Given the description of an element on the screen output the (x, y) to click on. 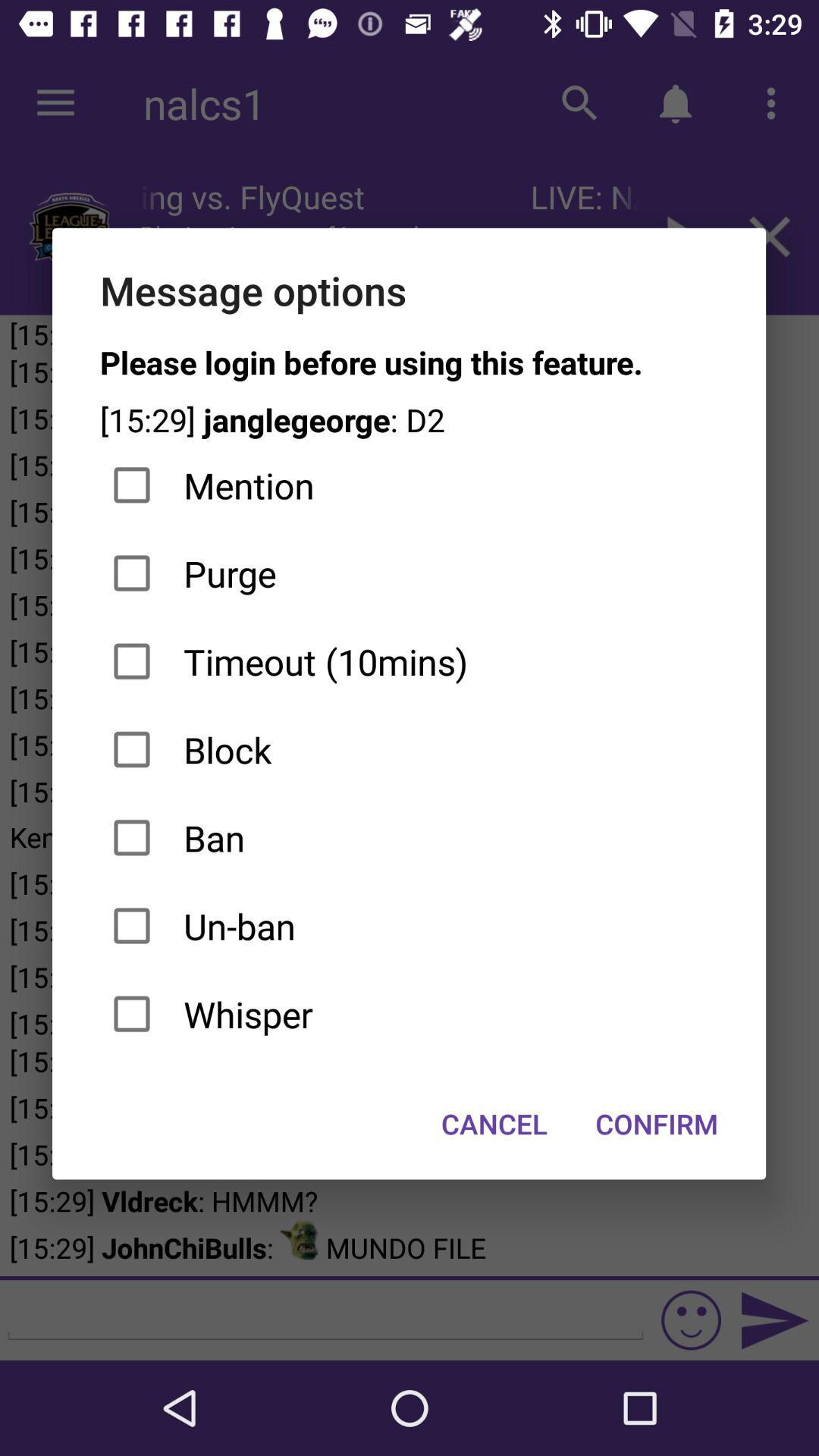
flip to purge (409, 573)
